Given the description of an element on the screen output the (x, y) to click on. 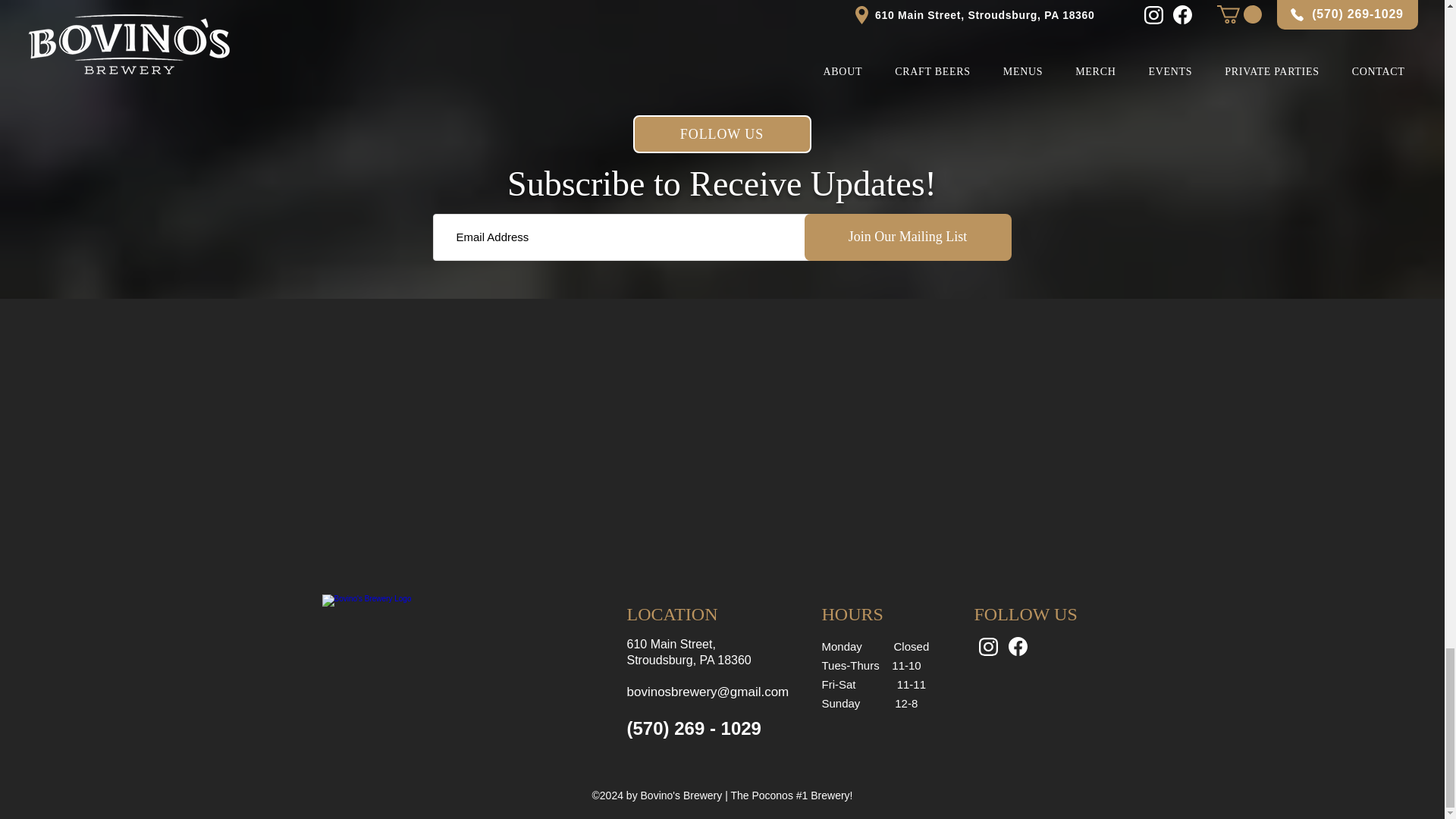
FOLLOW US (720, 134)
Join Our Mailing List (906, 237)
